Given the description of an element on the screen output the (x, y) to click on. 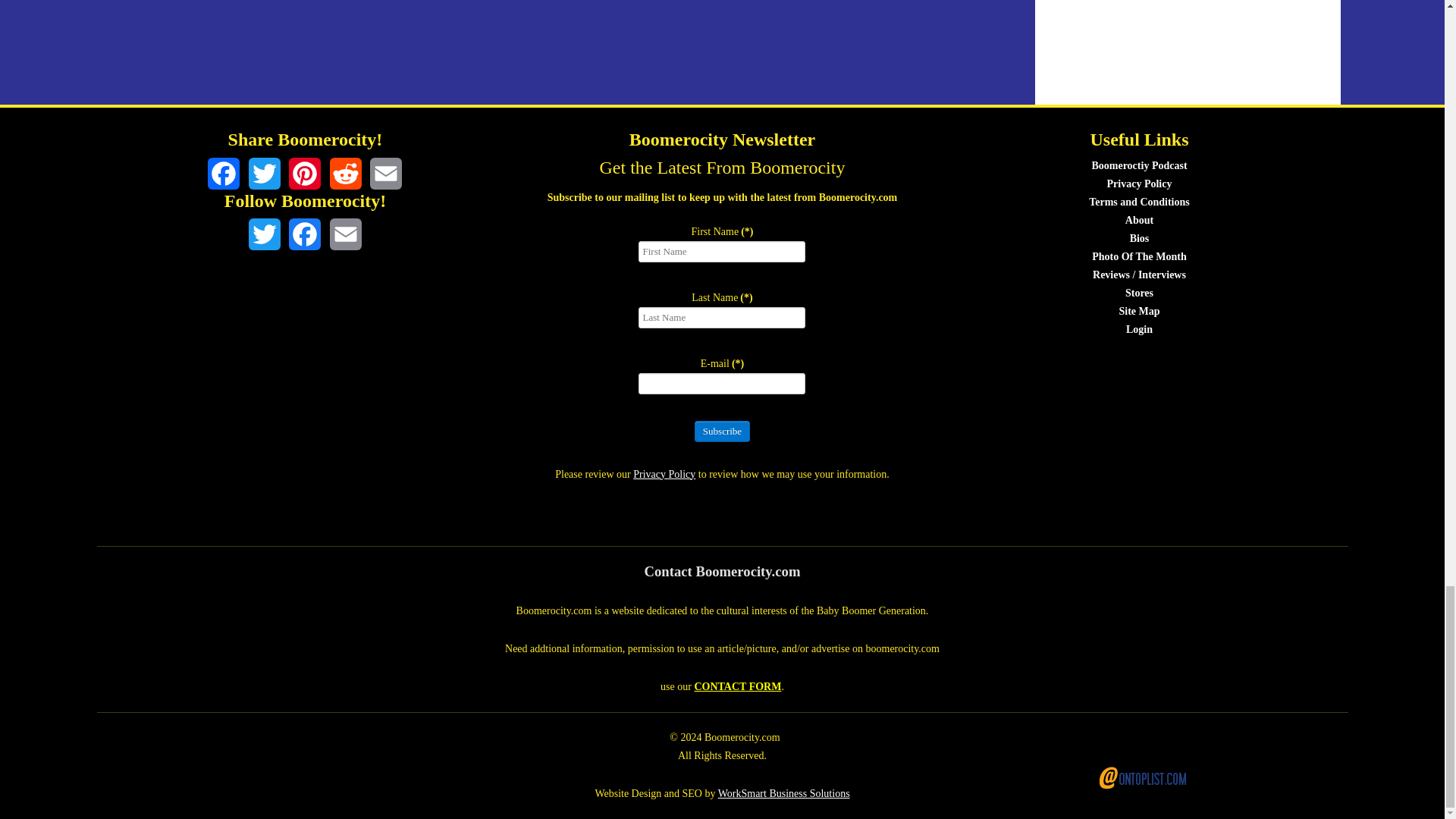
Bios (1139, 238)
About (1139, 220)
Twitter (264, 173)
Login (1139, 328)
Facebook (304, 234)
Site Map (1138, 310)
Email (385, 173)
Photo Of The Month (1139, 256)
Subscribe (721, 431)
Terms and Conditions (1139, 202)
Stores (1139, 292)
Reddit (345, 173)
Facebook (224, 173)
Pinterest (304, 173)
Privacy Policy (664, 473)
